Given the description of an element on the screen output the (x, y) to click on. 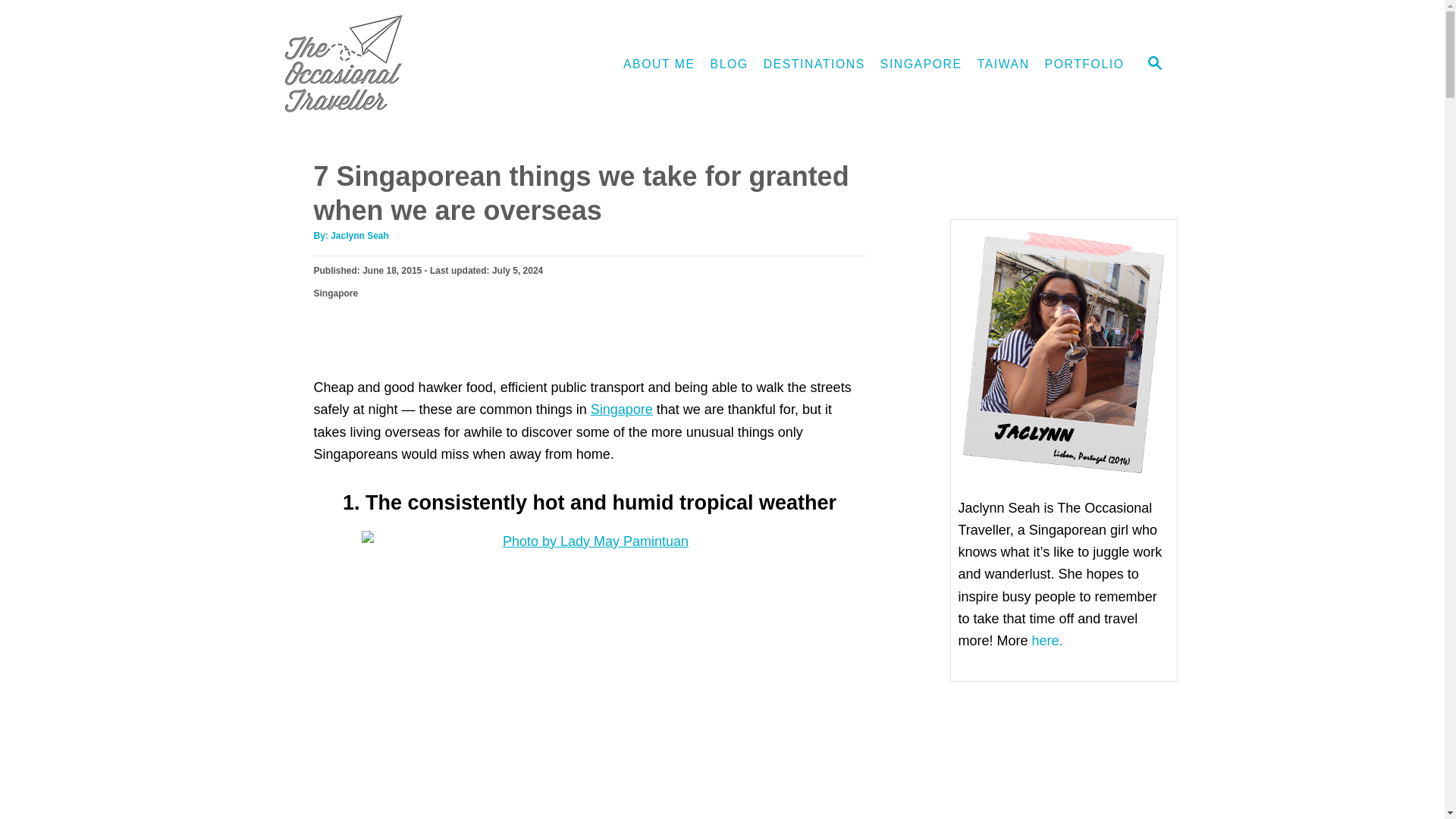
SEARCH (1153, 63)
ABOUT ME (659, 64)
DESTINATIONS (813, 64)
BLOG (729, 64)
The Occasional Traveller (403, 64)
